Given the description of an element on the screen output the (x, y) to click on. 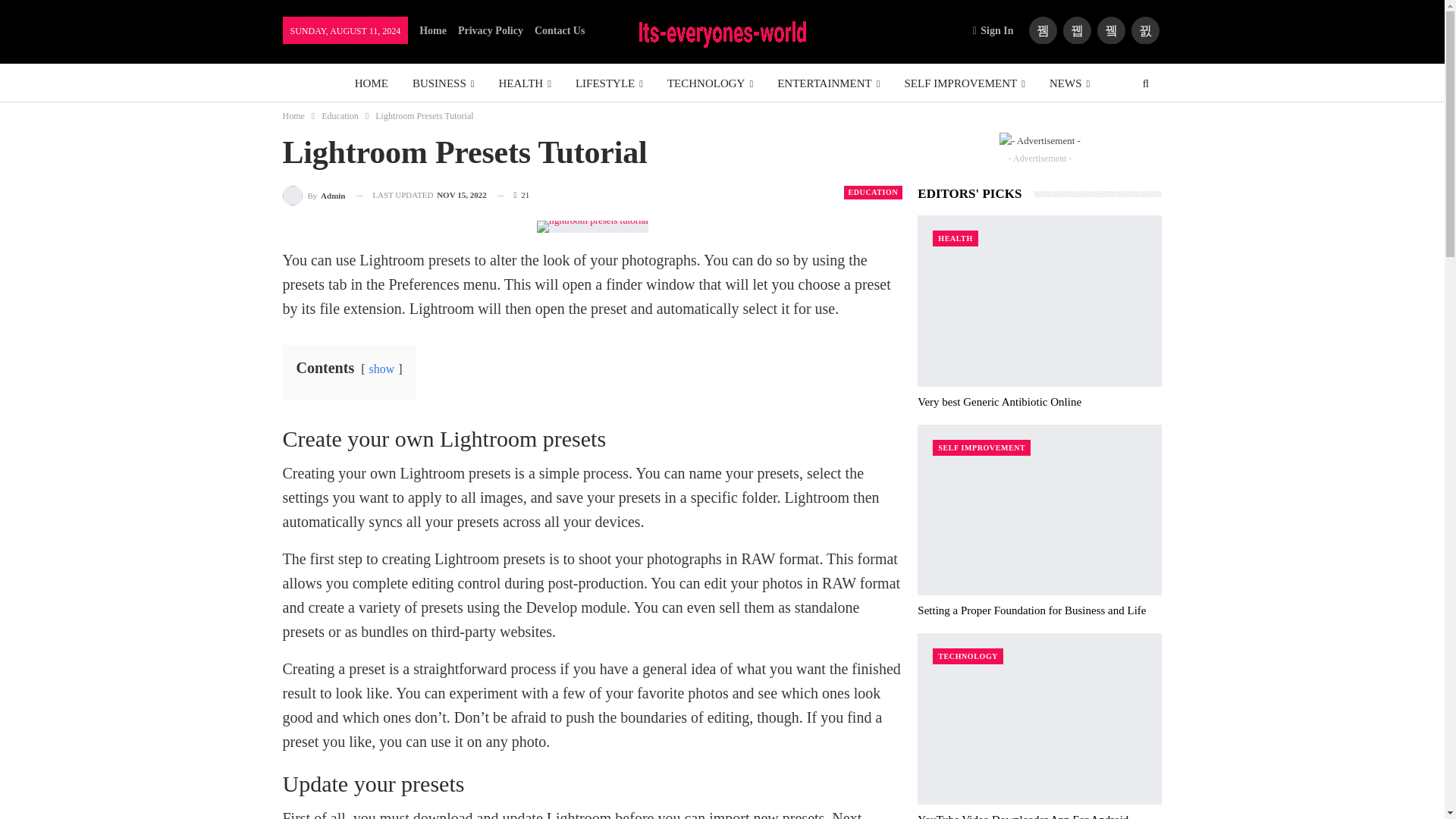
Very best Generic Antibiotic Online (999, 401)
ENTERTAINMENT (828, 83)
Home (432, 30)
HOME (371, 83)
Sign In (996, 30)
Browse Author Articles (313, 195)
HEALTH (524, 83)
Very best Generic Antibiotic Online (1039, 300)
TECHNOLOGY (709, 83)
Privacy Policy (490, 30)
